Given the description of an element on the screen output the (x, y) to click on. 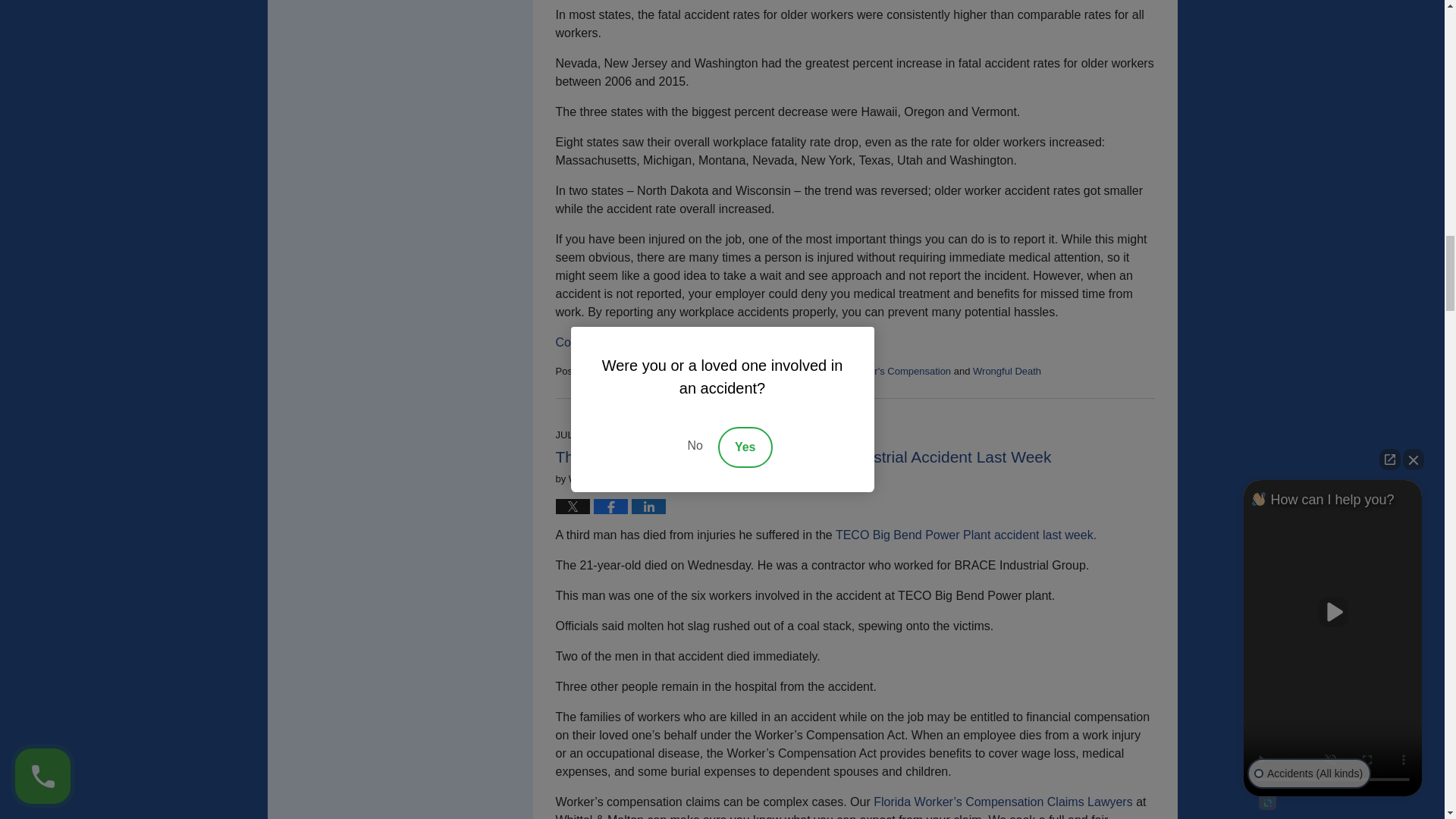
View all posts in Personal Injury Attorney (689, 370)
View all posts in Florida (616, 370)
View all posts in Personal Injury Claim (793, 370)
View all posts in Wrongful Death (1006, 370)
View all posts in Worker's Compensation (897, 370)
